Given the description of an element on the screen output the (x, y) to click on. 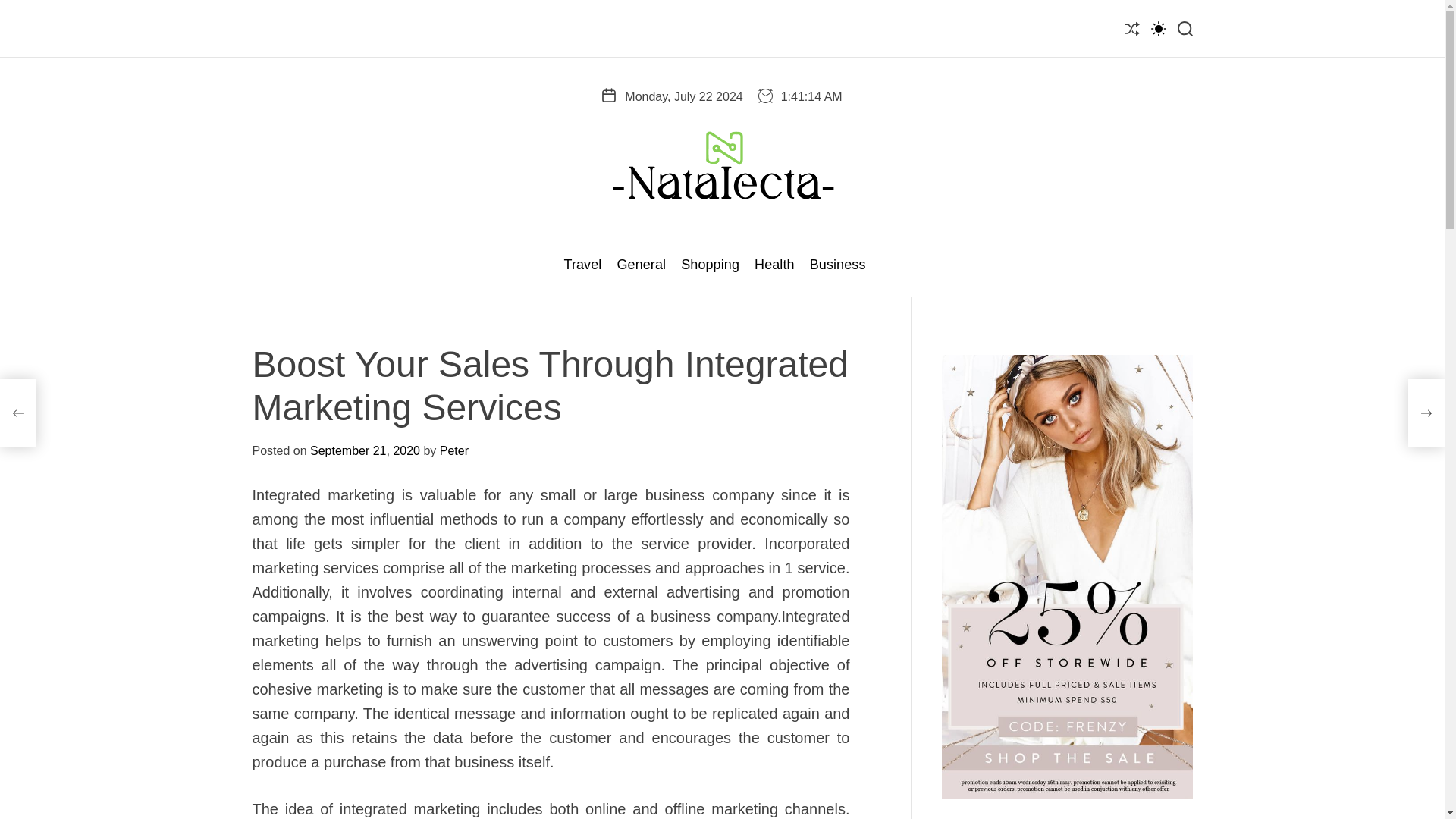
General (640, 265)
Business (837, 265)
Peter (453, 450)
Shuffle (1131, 28)
Travel (582, 265)
Search (1184, 28)
Shopping (710, 265)
Switch color mode (1158, 28)
September 21, 2020 (365, 450)
Health (774, 265)
